Given the description of an element on the screen output the (x, y) to click on. 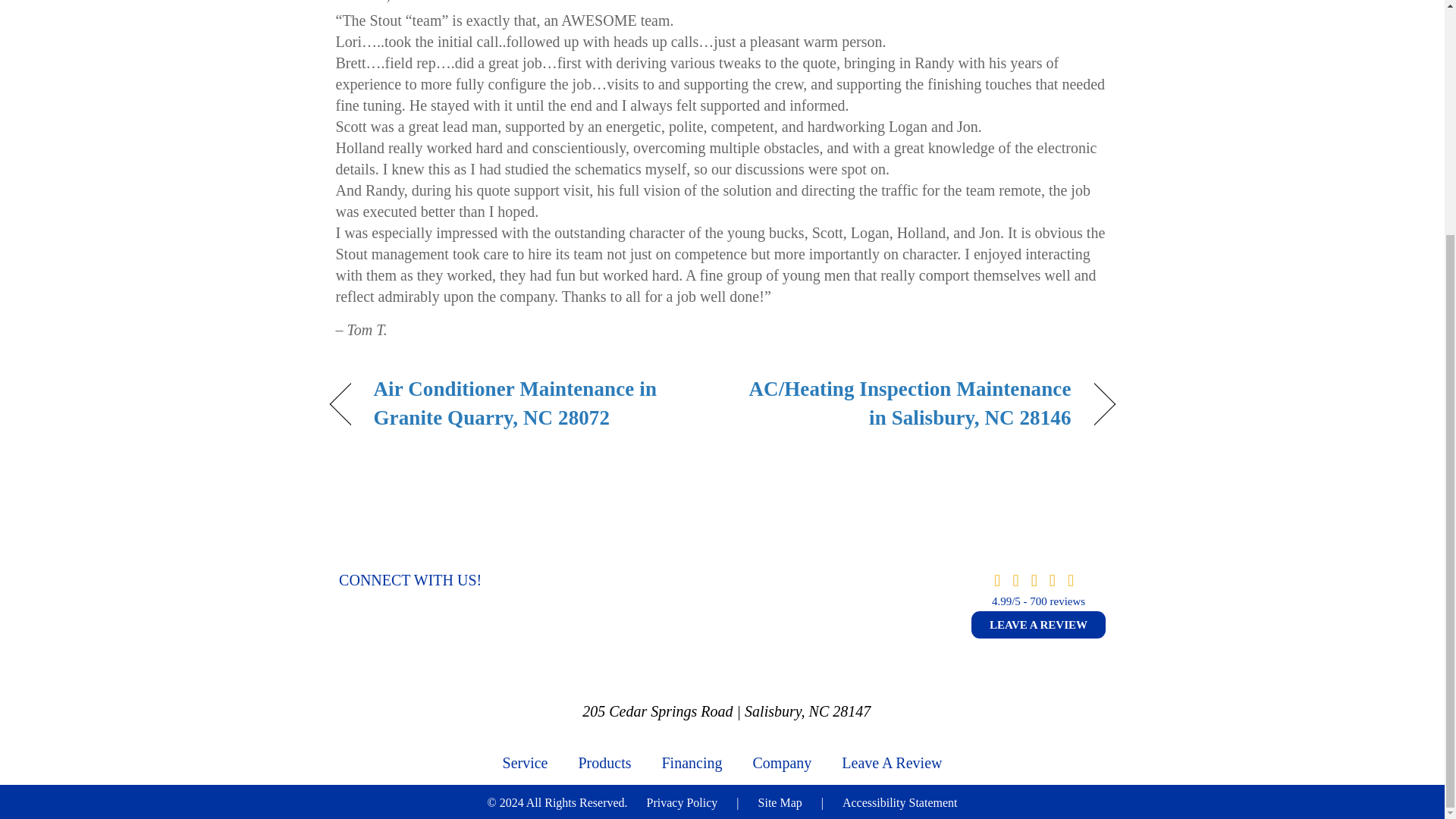
SHA-Logo-RGB (726, 619)
